Given the description of an element on the screen output the (x, y) to click on. 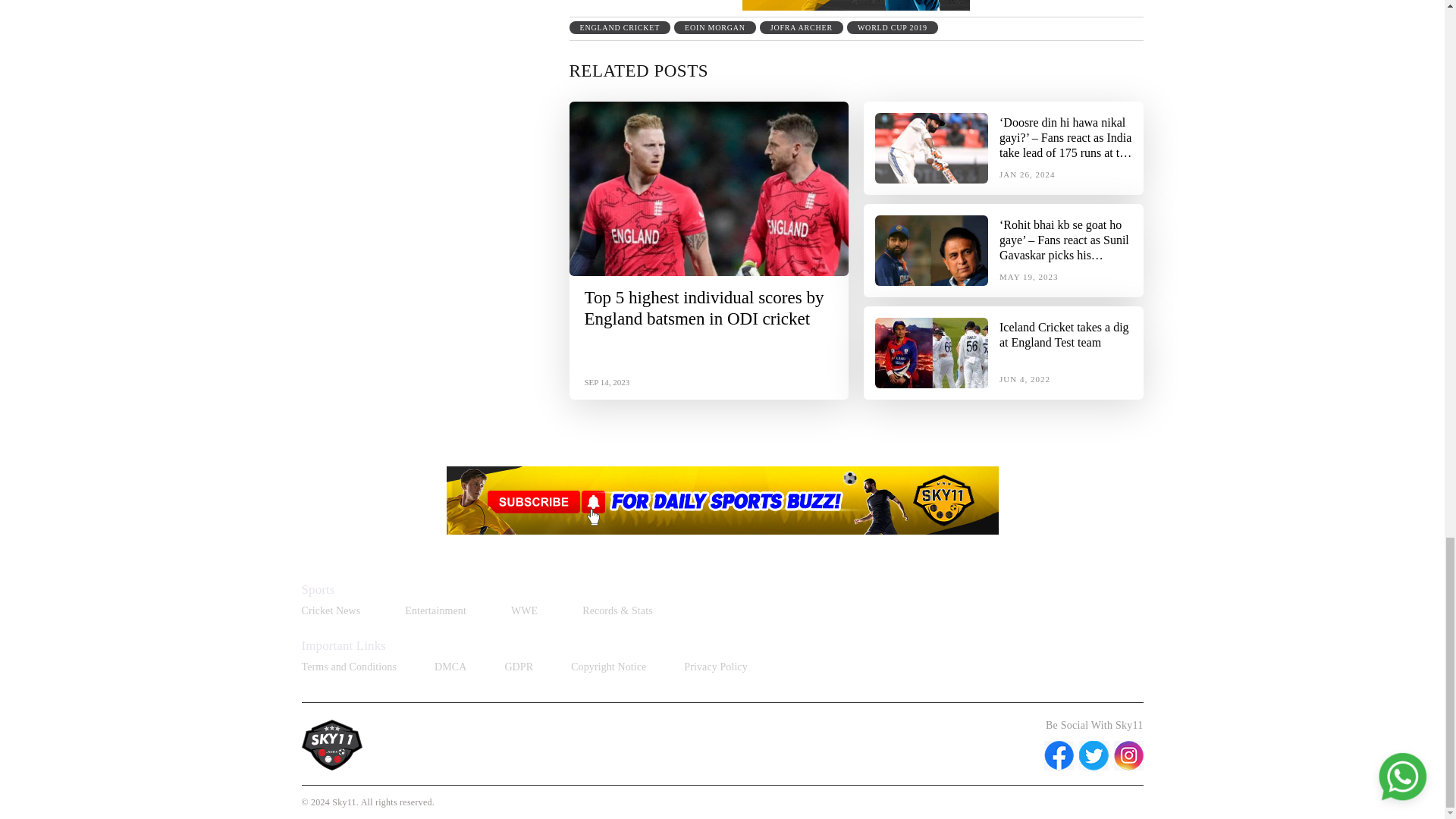
ENGLAND CRICKET (619, 27)
JOFRA ARCHER (801, 27)
EOIN MORGAN (714, 27)
WORLD CUP 2019 (892, 27)
